Given the description of an element on the screen output the (x, y) to click on. 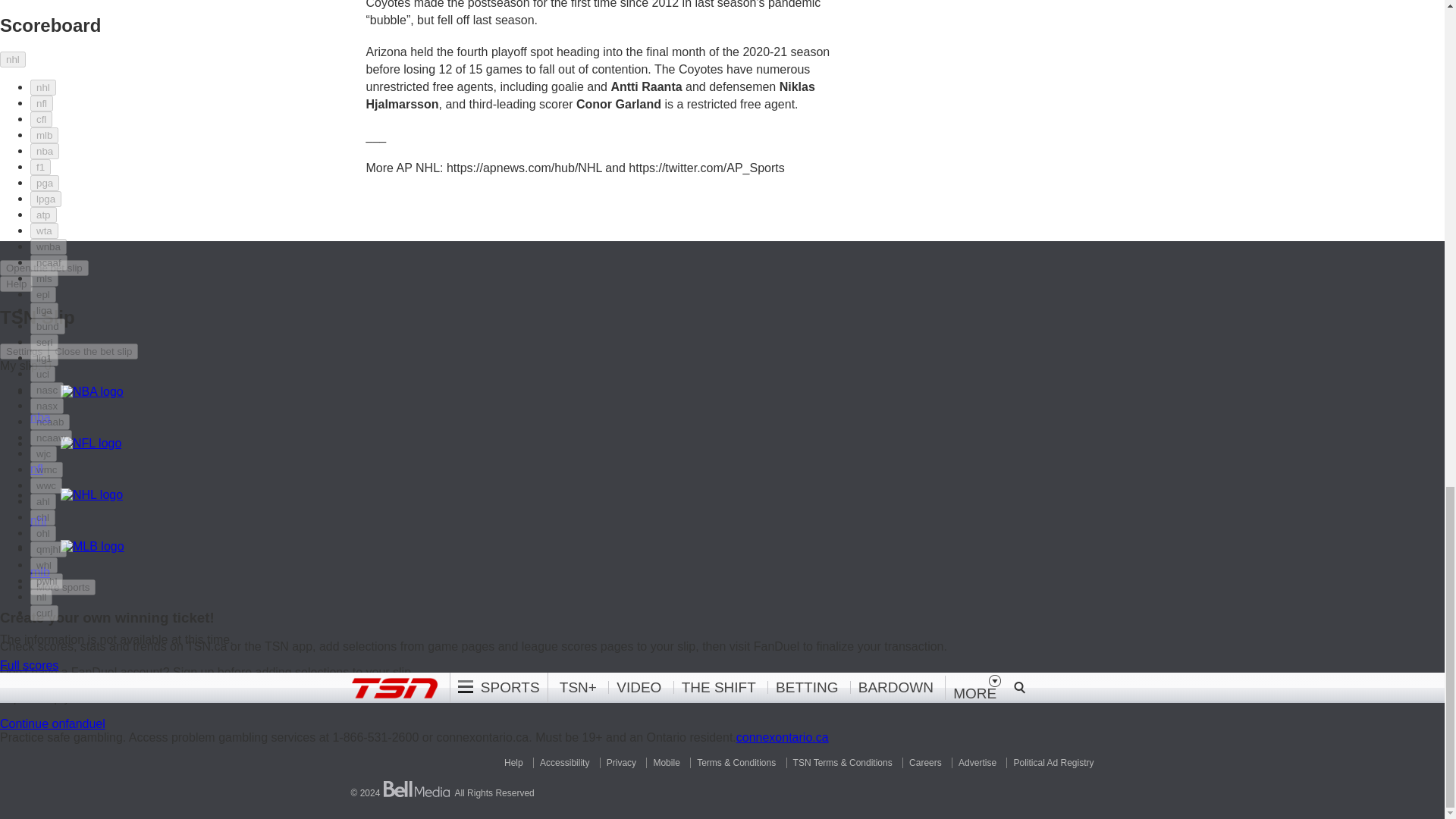
Bell Media (416, 788)
